Given the description of an element on the screen output the (x, y) to click on. 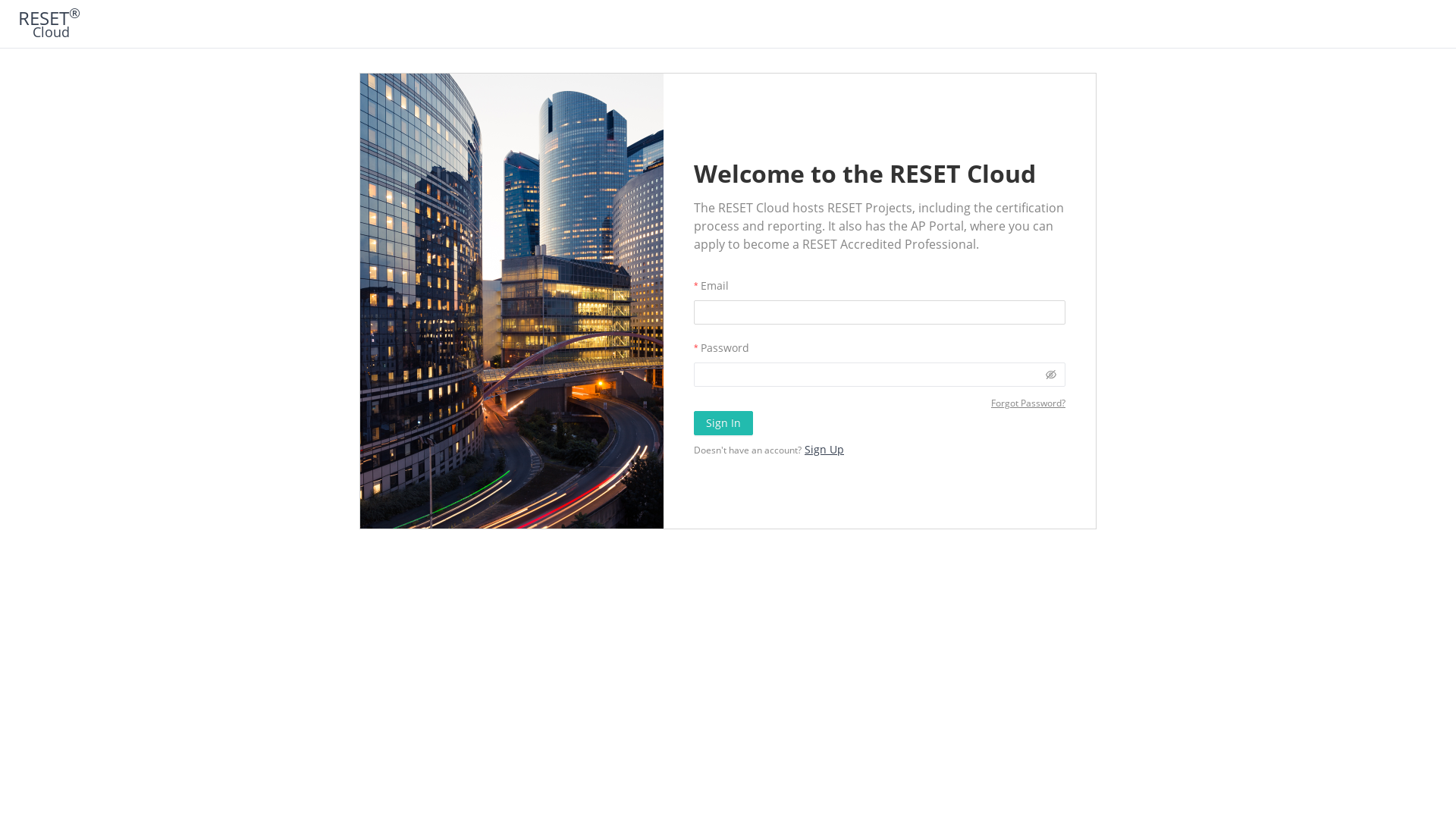
Sign In Element type: text (723, 423)
Forgot Password? Element type: text (1028, 402)
Sign Up Element type: text (824, 449)
